Given the description of an element on the screen output the (x, y) to click on. 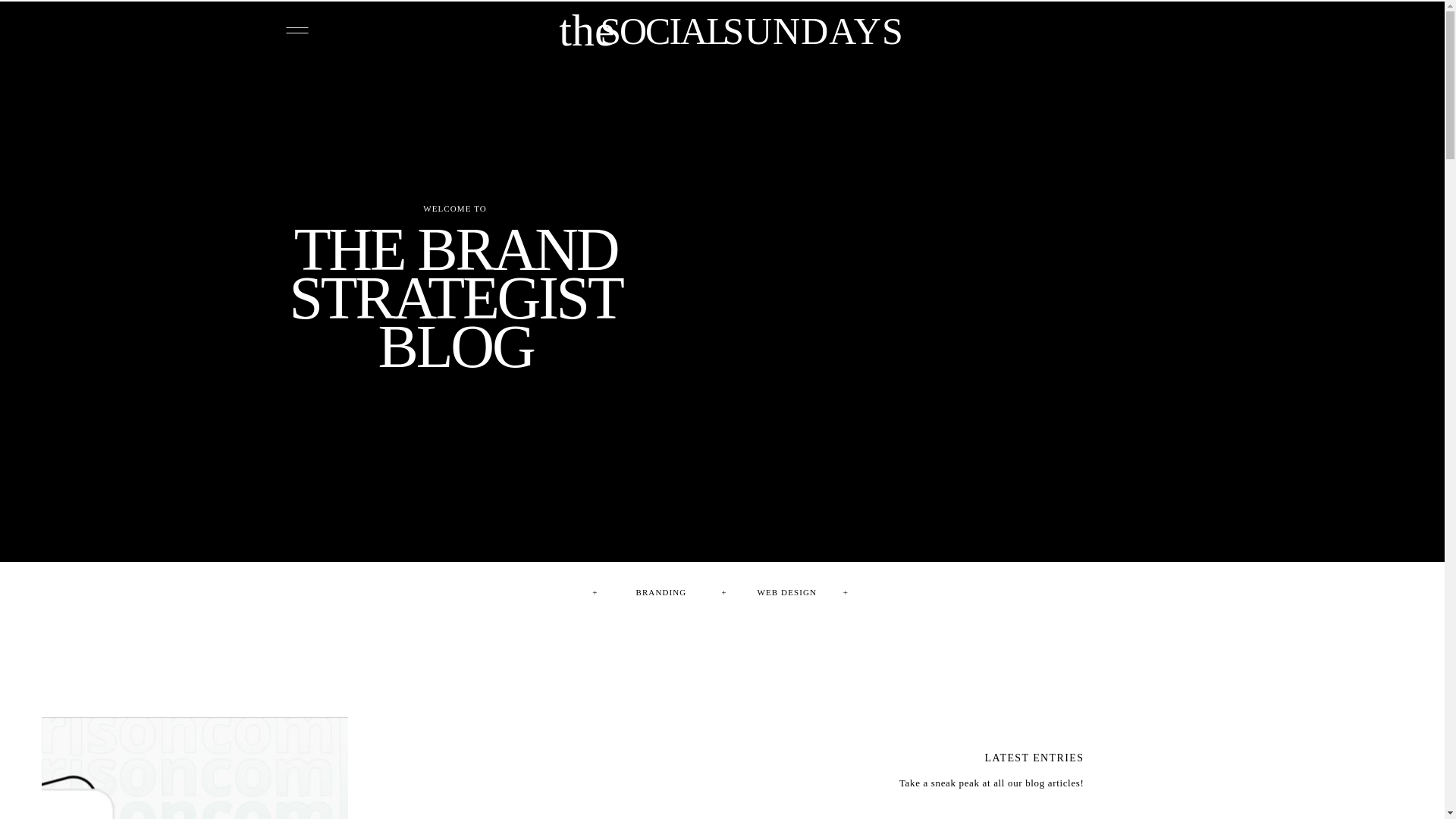
6 Reasons Why You Should Switch from Wix to Showit (194, 768)
the (587, 38)
THE BRAND STRATEGIST BLOG (455, 275)
6 Reasons Why You Should Switch from Wix to Showit (194, 768)
the (587, 38)
6 Reasons Why You Should Switch from Wix to Showit (455, 275)
